Given the description of an element on the screen output the (x, y) to click on. 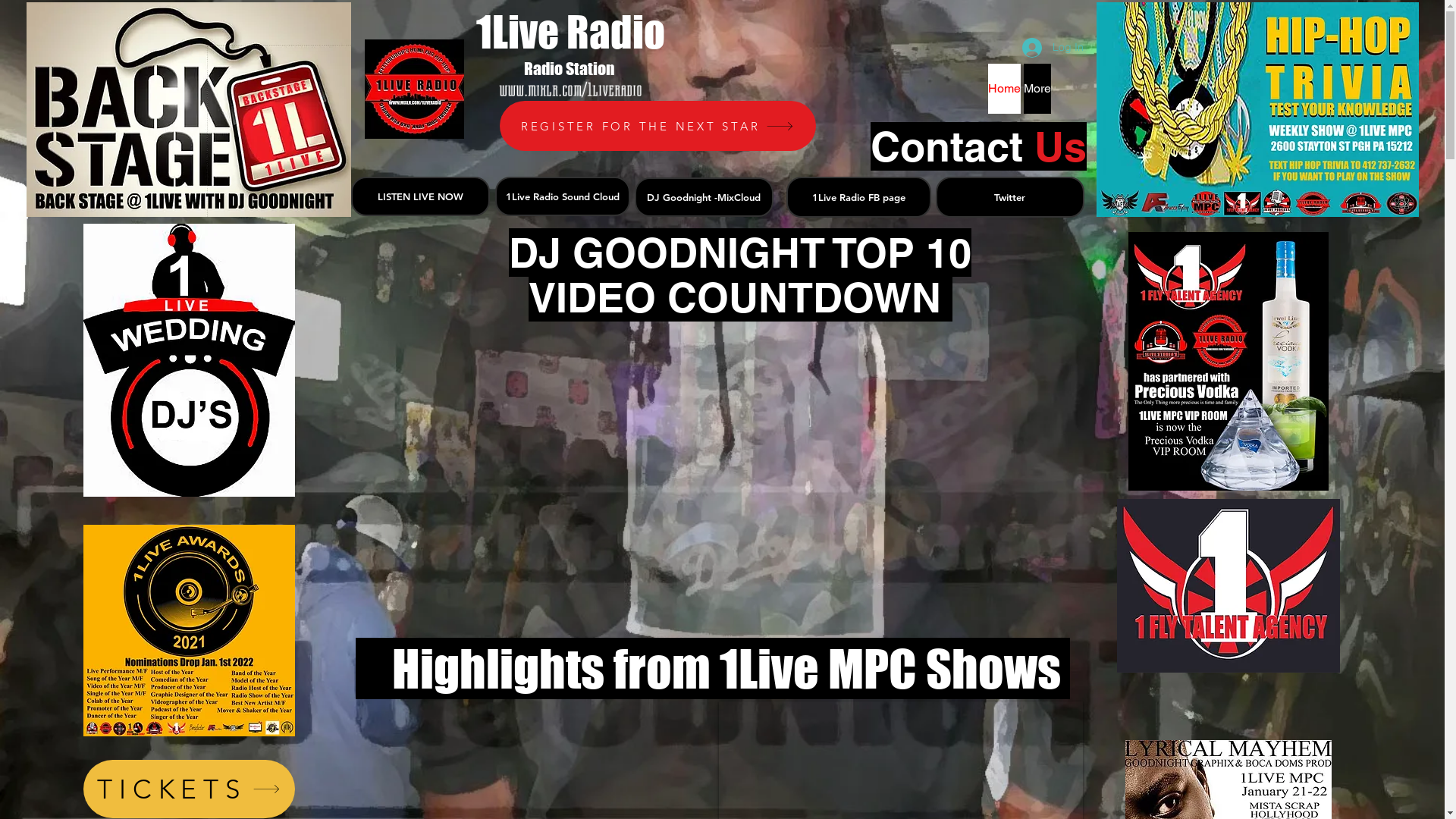
Home Element type: text (1003, 88)
Radio Station  Element type: text (570, 68)
1Live Radio Element type: text (570, 31)
TICKETS Element type: text (188, 788)
1Live Radio FB page Element type: text (857, 196)
REGISTER FOR THE NEXT STAR Element type: text (656, 125)
Log In Element type: text (1052, 47)
1Live Radio Sound Cloud Element type: text (561, 196)
LISTEN LIVE NOW Element type: text (419, 196)
www.mixlr.com/1liveradio Element type: text (570, 89)
DJ Goodnight -MixCloud Element type: text (702, 196)
Twitter Element type: text (1009, 196)
